Given the description of an element on the screen output the (x, y) to click on. 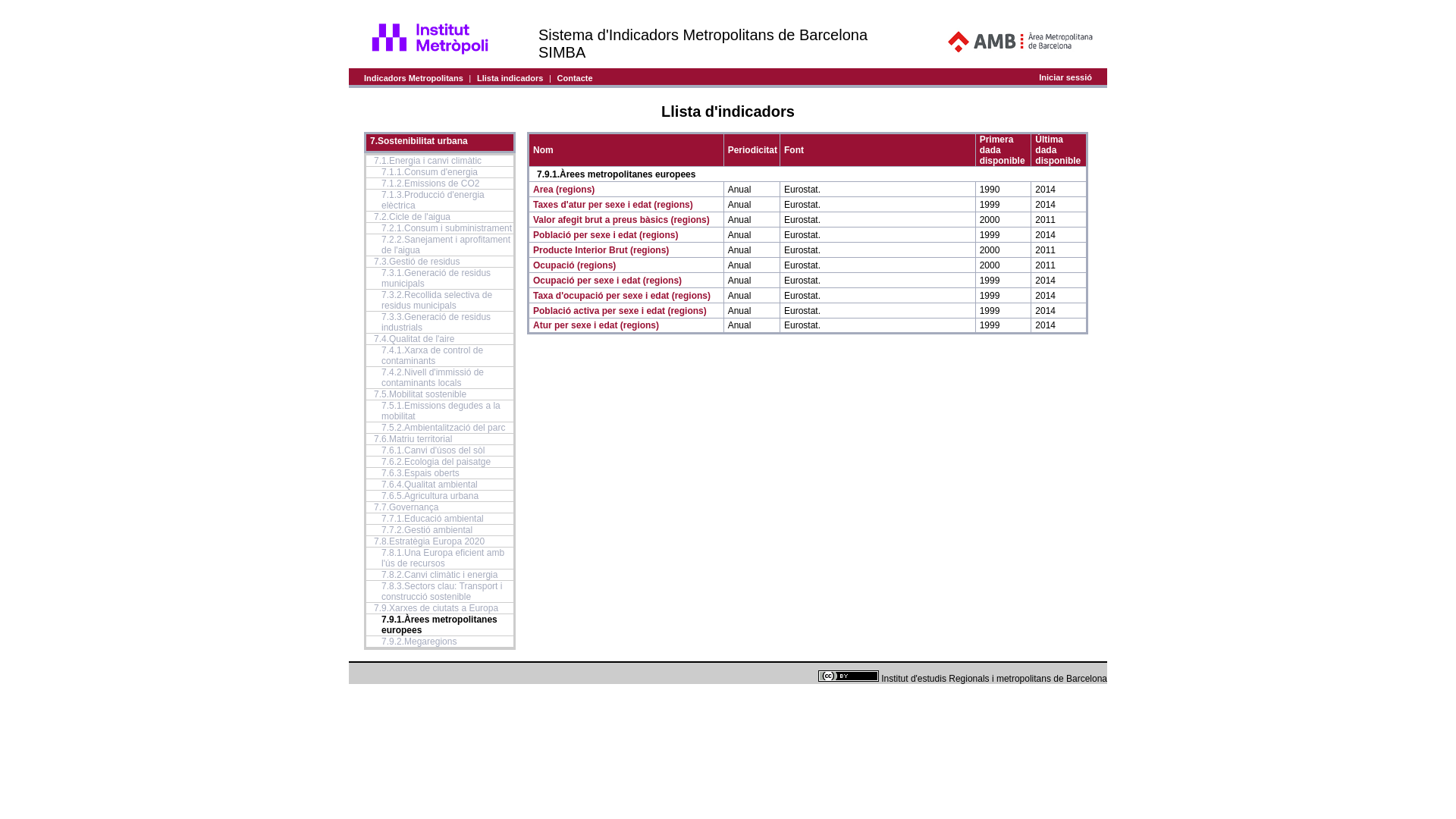
Taxes d'atur per sexe i edat (regions) Element type: text (613, 203)
7.5.1.Emissions degudes a la mobilitat Element type: text (440, 410)
7.4.1.Xarxa de control de contaminants Element type: text (432, 355)
7.5.Mobilitat sostenible Element type: text (419, 394)
Llista indicadors Element type: text (509, 77)
7.9.Xarxes de ciutats a Europa Element type: text (435, 607)
7.6.4.Qualitat ambiental Element type: text (429, 484)
7.1.2.Emissions de CO2 Element type: text (430, 183)
Indicadors Metropolitans Element type: text (413, 77)
7.9.2.Megaregions Element type: text (418, 641)
7.2.2.Sanejament i aprofitament de l'aigua Element type: text (445, 244)
Atur per sexe i edat (regions) Element type: text (595, 325)
7.2.1.Consum i subministrament Element type: text (446, 227)
7.1.1.Consum d'energia Element type: text (429, 171)
7.2.Cicle de l'aigua Element type: text (411, 216)
7.6.2.Ecologia del paisatge Element type: text (435, 461)
Contacte Element type: text (574, 77)
7.6.Matriu territorial Element type: text (412, 438)
7.6.3.Espais oberts Element type: text (420, 472)
7.4.Qualitat de l'aire Element type: text (413, 338)
Area (regions) Element type: text (563, 188)
7.6.5.Agricultura urbana Element type: text (429, 495)
7.3.2.Recollida selectiva de residus municipals Element type: text (436, 299)
Producte Interior Brut (regions) Element type: text (600, 249)
